Given the description of an element on the screen output the (x, y) to click on. 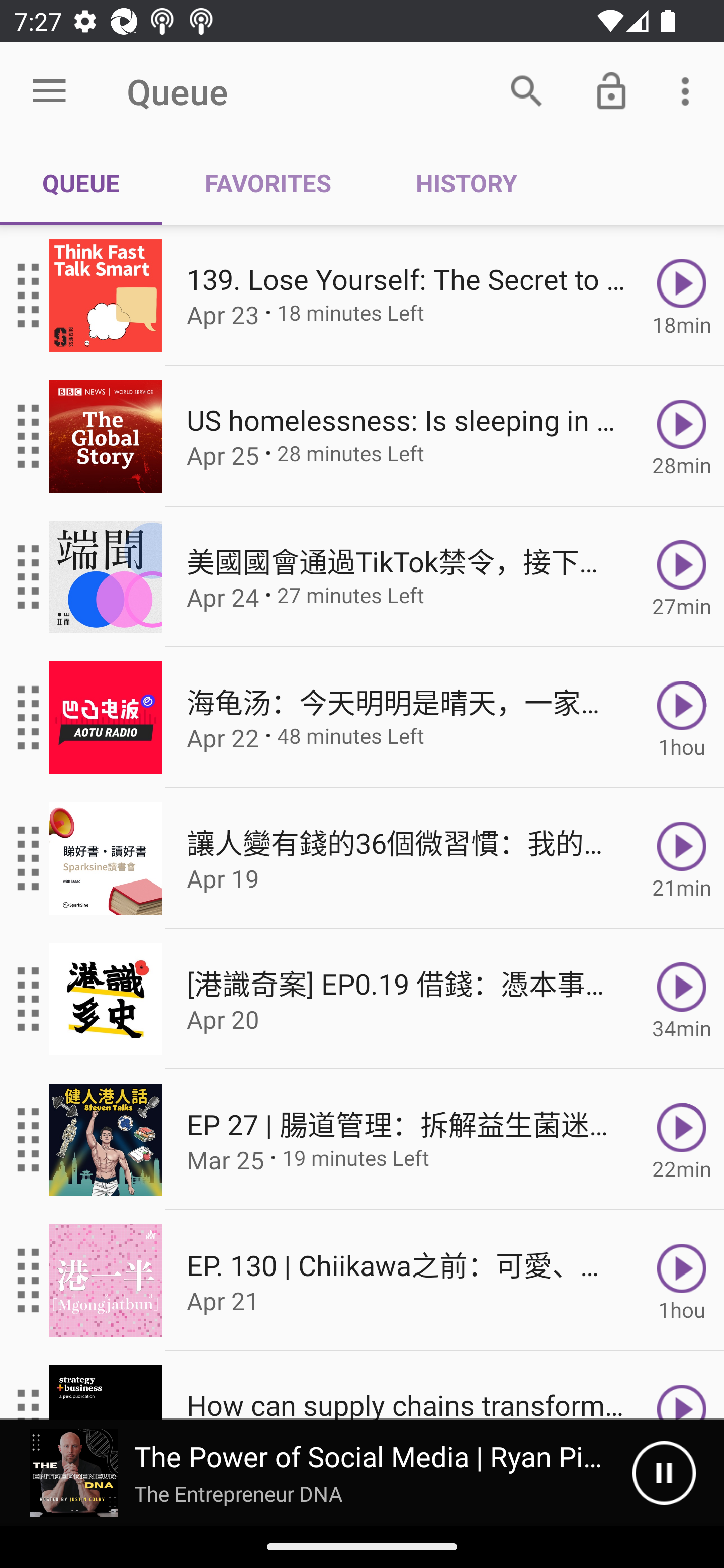
Open menu (49, 91)
Search (526, 90)
Lock Queue (611, 90)
More options (688, 90)
QUEUE (81, 183)
FAVORITES (267, 183)
HISTORY (465, 183)
Play 18min (681, 295)
Play 28min (681, 435)
Play 27min (681, 576)
Play 1hou (681, 717)
Play 21min (681, 858)
Play 34min (681, 998)
Play 22min (681, 1139)
Play 1hou (681, 1280)
Play (681, 1385)
Pause (663, 1472)
